Given the description of an element on the screen output the (x, y) to click on. 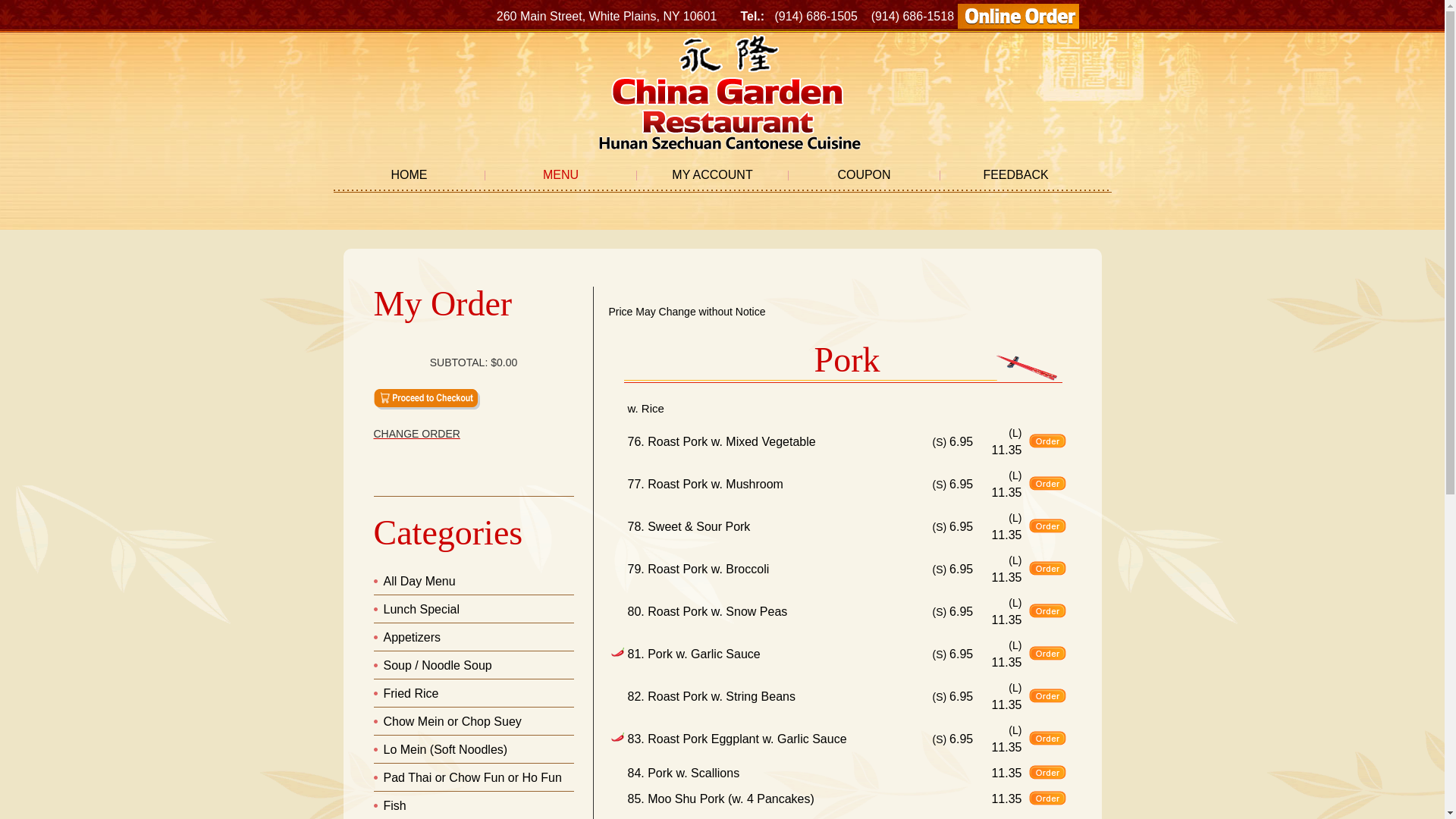
Appetizers Element type: text (412, 636)
Fried Rice Element type: text (411, 693)
Lunch Special Element type: text (421, 608)
FEEDBACK Element type: text (1016, 175)
Fish Element type: text (394, 805)
Soup / Noodle Soup Element type: text (437, 664)
COUPON Element type: text (864, 175)
Lo Mein (Soft Noodles) Element type: text (445, 749)
All Day Menu Element type: text (419, 580)
Pad Thai or Chow Fun or Ho Fun Element type: text (472, 777)
Chow Mein or Chop Suey Element type: text (452, 721)
MENU Element type: text (561, 175)
CHANGE ORDER Element type: text (473, 433)
MY ACCOUNT Element type: text (712, 175)
HOME Element type: text (409, 175)
